Given the description of an element on the screen output the (x, y) to click on. 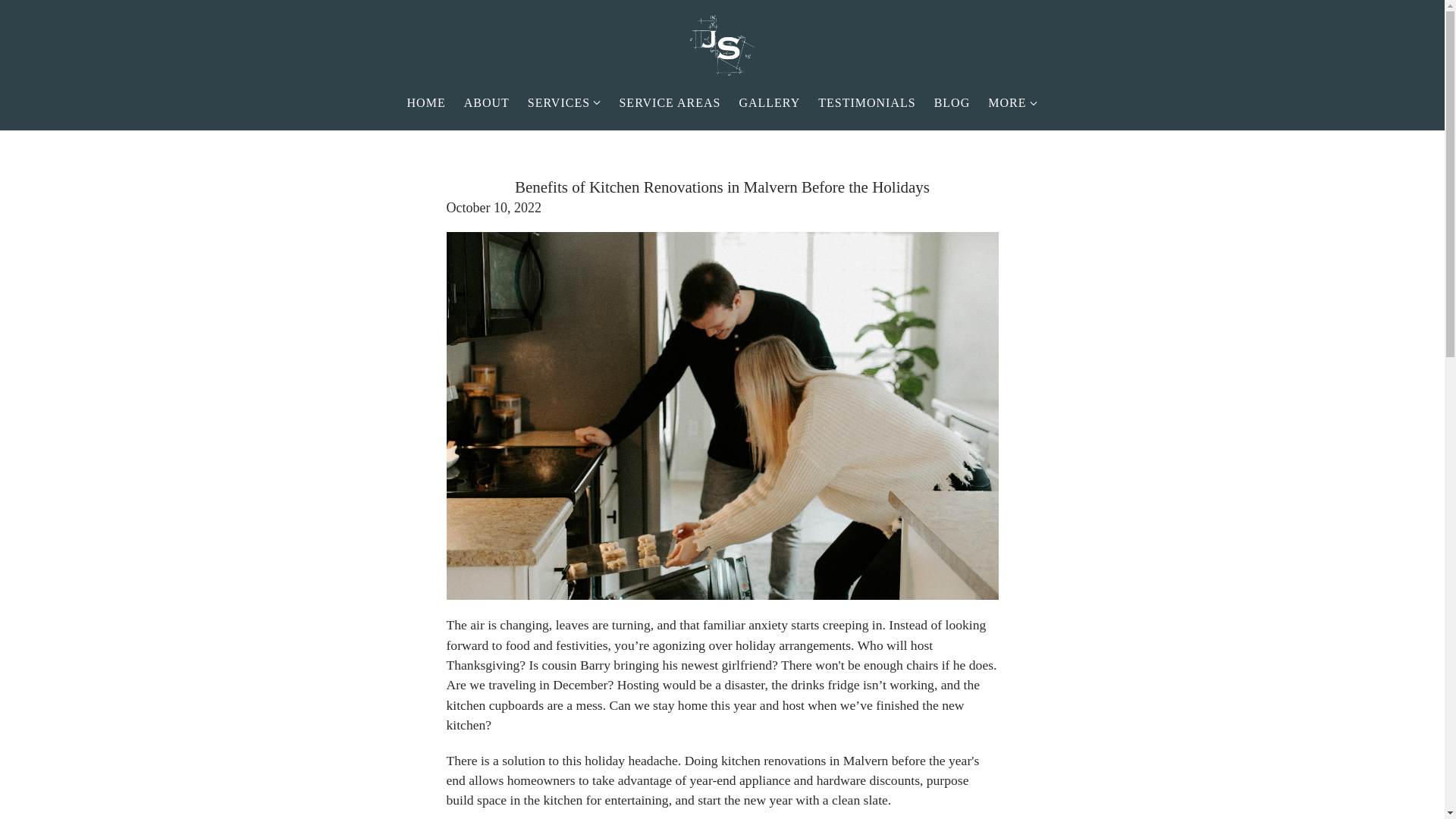
ABOUT (486, 102)
TESTIMONIALS (866, 102)
SERVICE AREAS (669, 102)
MORE (1012, 102)
GALLERY (768, 102)
HOME (426, 102)
SERVICES (558, 102)
BLOG (952, 102)
